Given the description of an element on the screen output the (x, y) to click on. 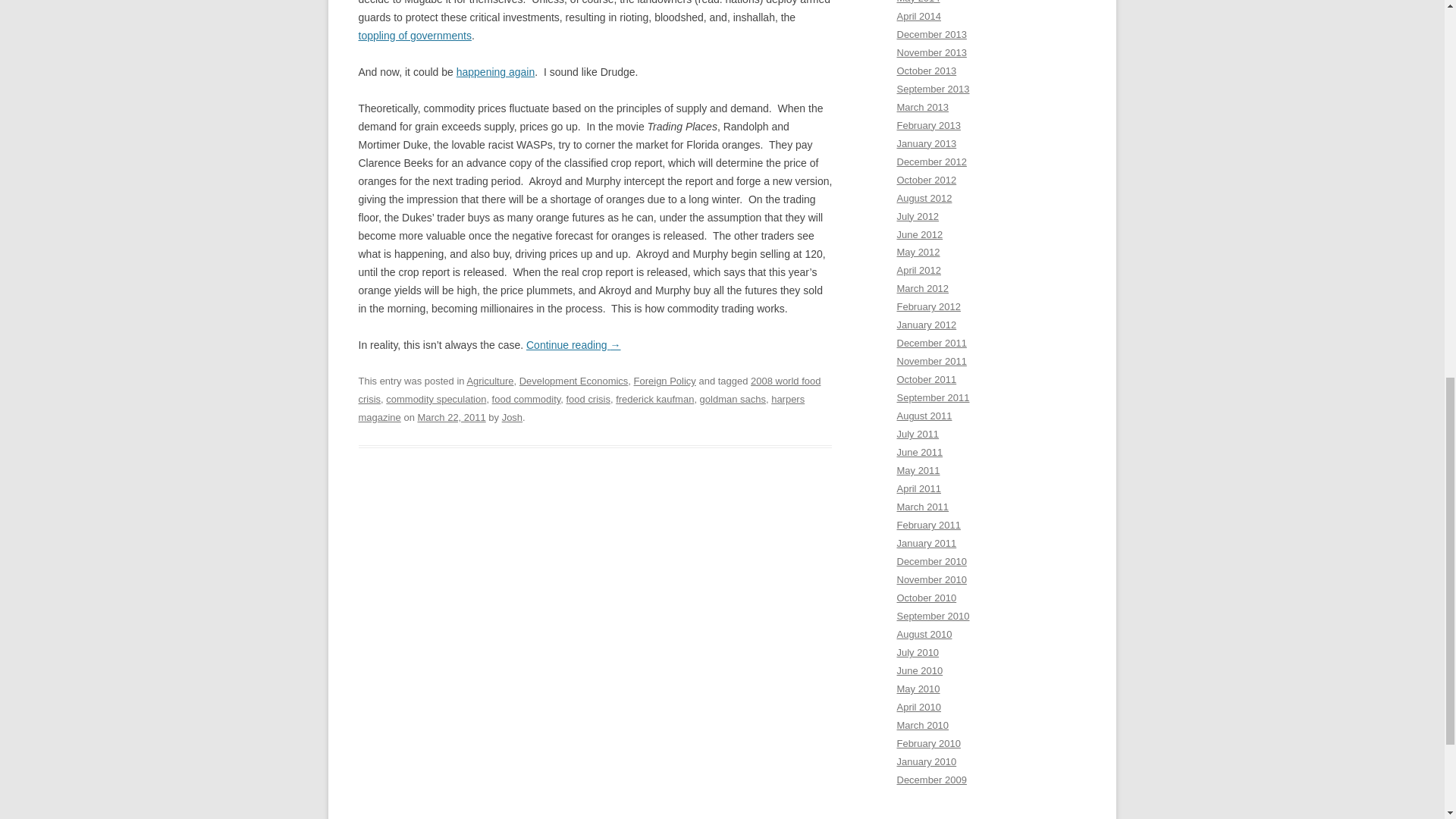
frederick kaufman (654, 398)
happening again (496, 71)
6:09 am (450, 417)
food commodity (526, 398)
harpers magazine (581, 408)
goldman sachs (732, 398)
May 2014 (917, 2)
March 22, 2011 (450, 417)
Josh (512, 417)
2008 world food crisis (589, 389)
food crisis (588, 398)
Foreign Policy (664, 380)
toppling of governments (414, 35)
Agriculture (489, 380)
Development Economics (573, 380)
